Given the description of an element on the screen output the (x, y) to click on. 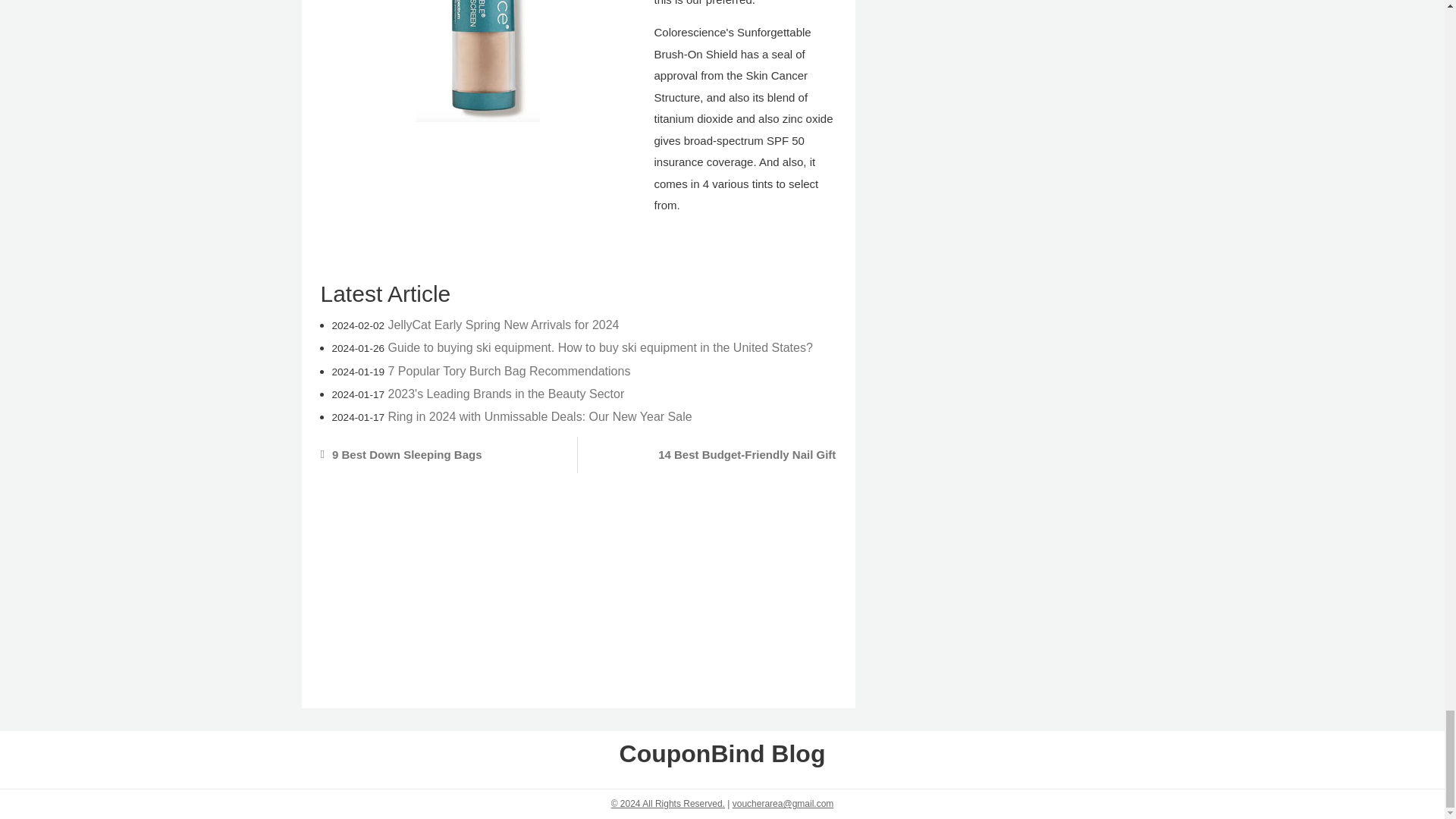
2023's Leading Brands in the Beauty Sector (506, 393)
Ring in 2024 with Unmissable Deals: Our New Year Sale (540, 416)
7 Popular Tory Burch Bag Recommendations (509, 370)
JellyCat Early Spring New Arrivals for 2024 (504, 324)
9 Best Down Sleeping Bags (439, 455)
JellyCat Early Spring New Arrivals for 2024 (504, 324)
14 Best Budget-Friendly Nail Gift (716, 455)
7 Popular Tory Burch Bag Recommendations (509, 370)
2023's Leading Brands in the Beauty Sector (506, 393)
Ring in 2024 with Unmissable Deals: Our New Year Sale (540, 416)
